Given the description of an element on the screen output the (x, y) to click on. 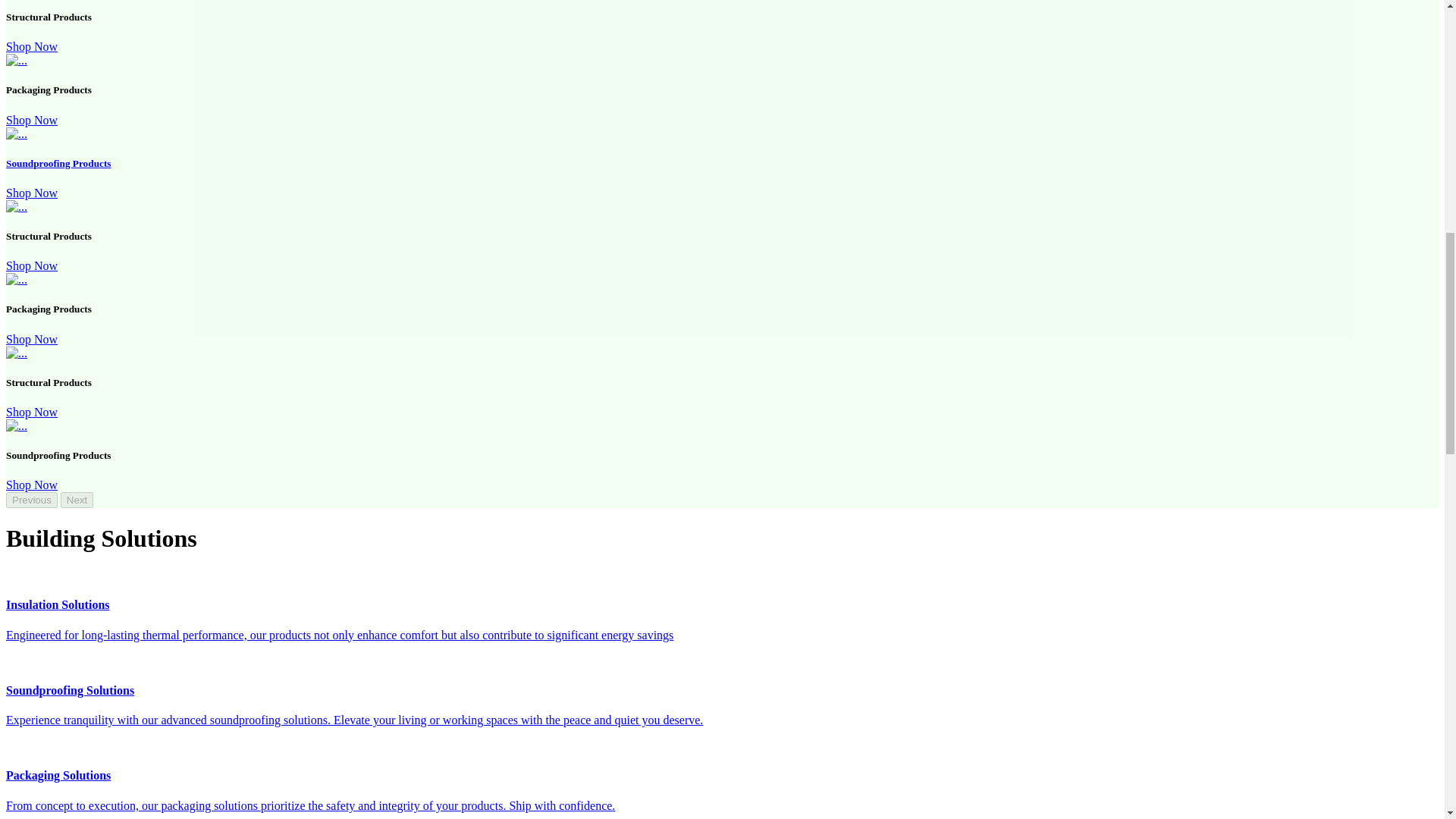
Shop Now (31, 119)
Shop Now (31, 46)
Shop Now (31, 192)
